Given the description of an element on the screen output the (x, y) to click on. 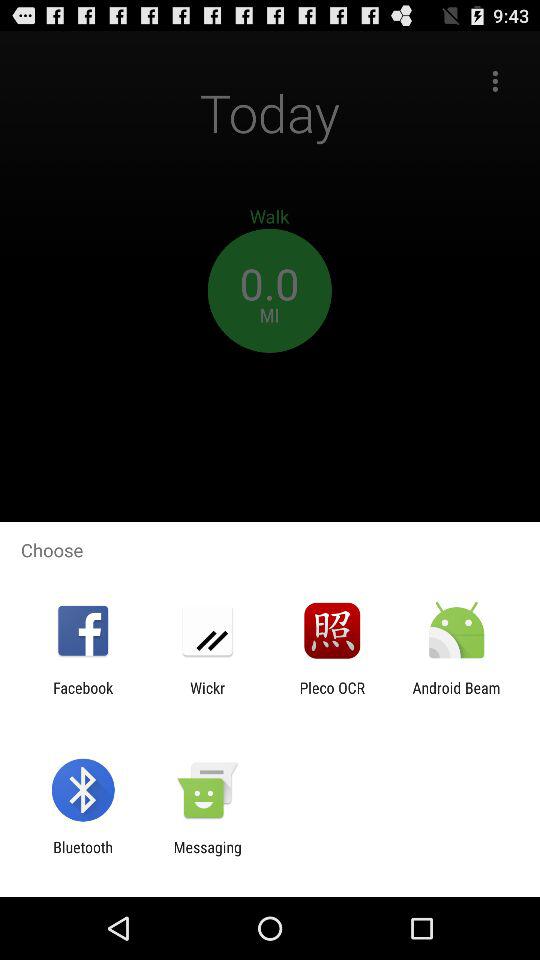
turn on the facebook item (83, 696)
